Given the description of an element on the screen output the (x, y) to click on. 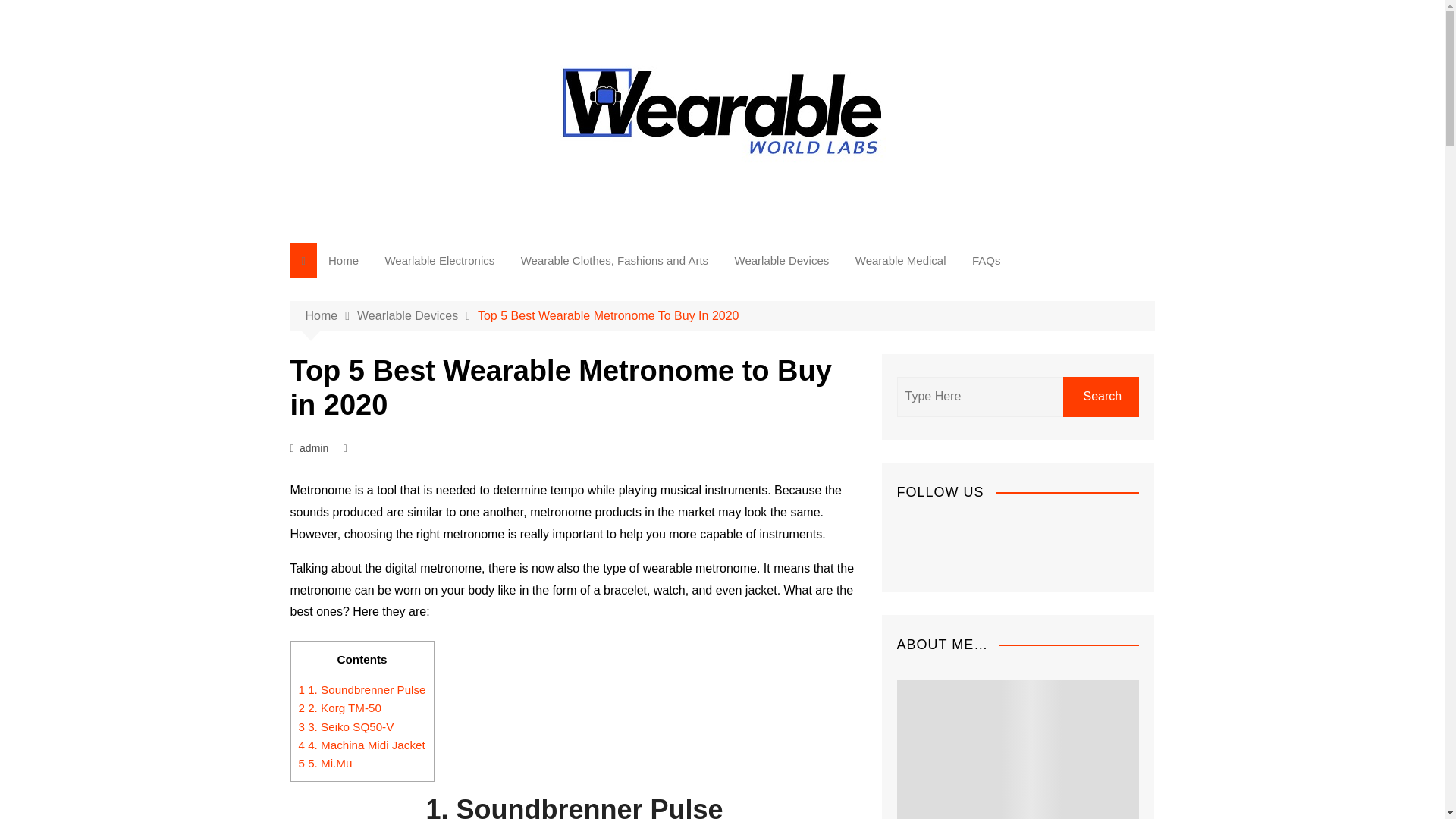
Wearlable Devices (782, 260)
Wearlable Devices (416, 315)
FAQs (985, 260)
4 4. Machina Midi Jacket (361, 744)
admin (314, 447)
Home (330, 315)
5 5. Mi.Mu (325, 762)
Top 5 Best Wearable Metronome To Buy In 2020 (608, 315)
Home (343, 260)
1 1. Soundbrenner Pulse (362, 689)
Wearlable Electronics (438, 260)
2 2. Korg TM-50 (339, 707)
Wearable Clothes, Fashions and Arts (614, 260)
Wearable Medical (901, 260)
3 3. Seiko SQ50-V (346, 726)
